Given the description of an element on the screen output the (x, y) to click on. 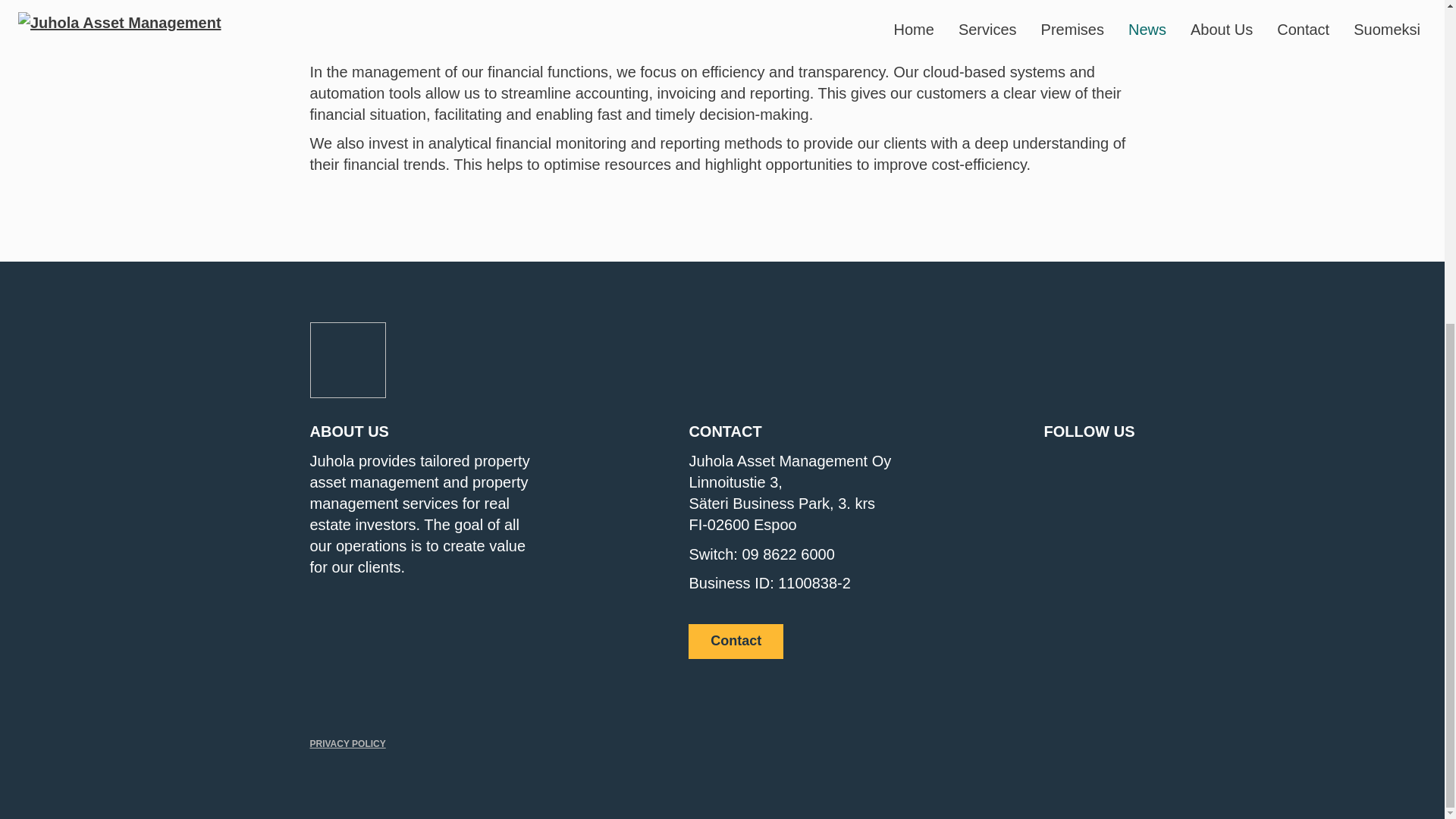
PRIVACY POLICY (346, 743)
Contact (735, 641)
